Given the description of an element on the screen output the (x, y) to click on. 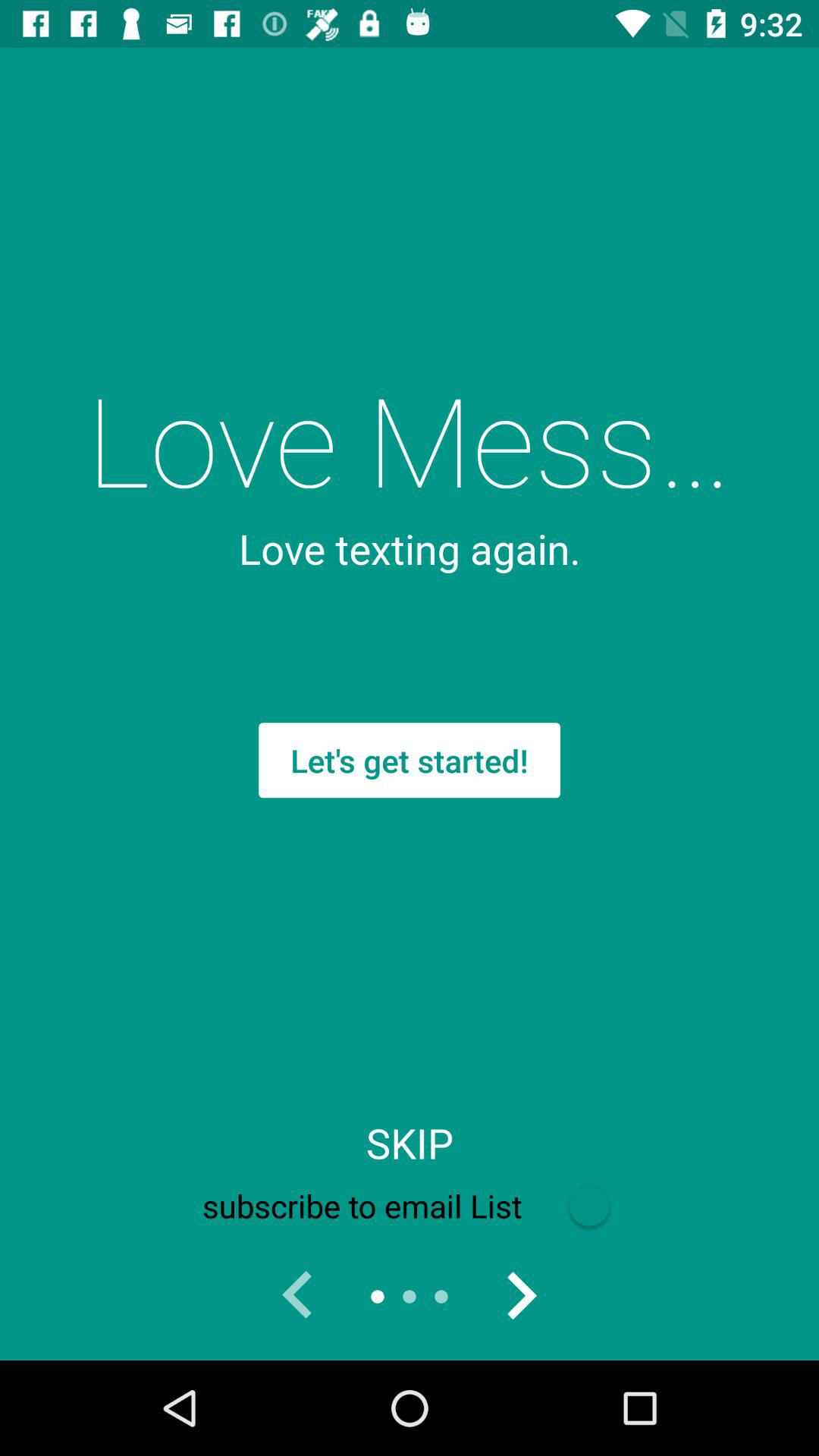
go forward (520, 1296)
